Given the description of an element on the screen output the (x, y) to click on. 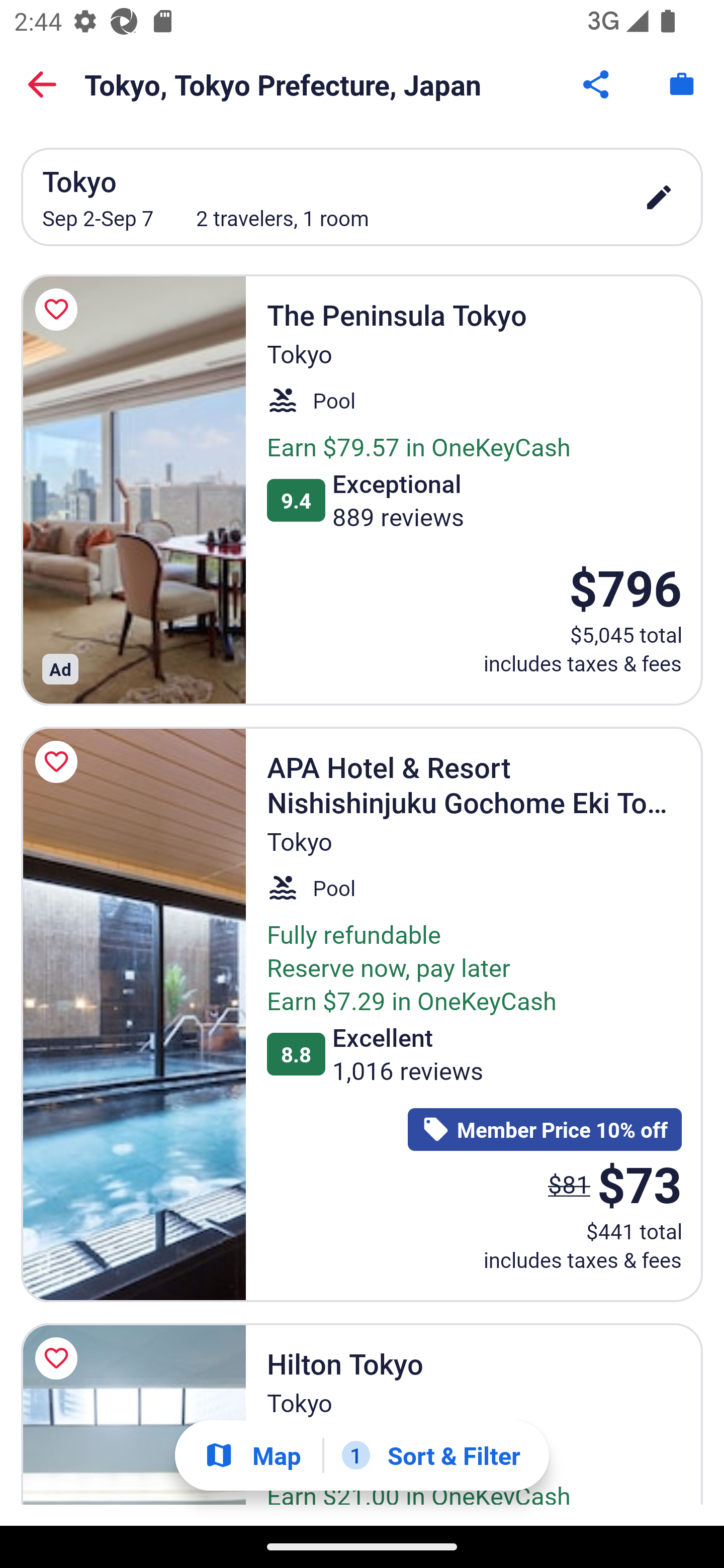
Back (42, 84)
Share Button (597, 84)
Trips. Button (681, 84)
Tokyo Sep 2-Sep 7 2 travelers, 1 room edit (361, 196)
Save The Peninsula Tokyo to a trip (59, 309)
The Peninsula Tokyo (133, 489)
APA Hotel & Resort Nishishinjuku Gochome Eki Tower (133, 1013)
$81 The price was $81 (569, 1183)
Save Hilton Tokyo to a trip (59, 1357)
Hilton Tokyo (133, 1414)
1 Sort & Filter 1 Filter applied. Filters Button (430, 1455)
Show map Map Show map Button (252, 1455)
